Given the description of an element on the screen output the (x, y) to click on. 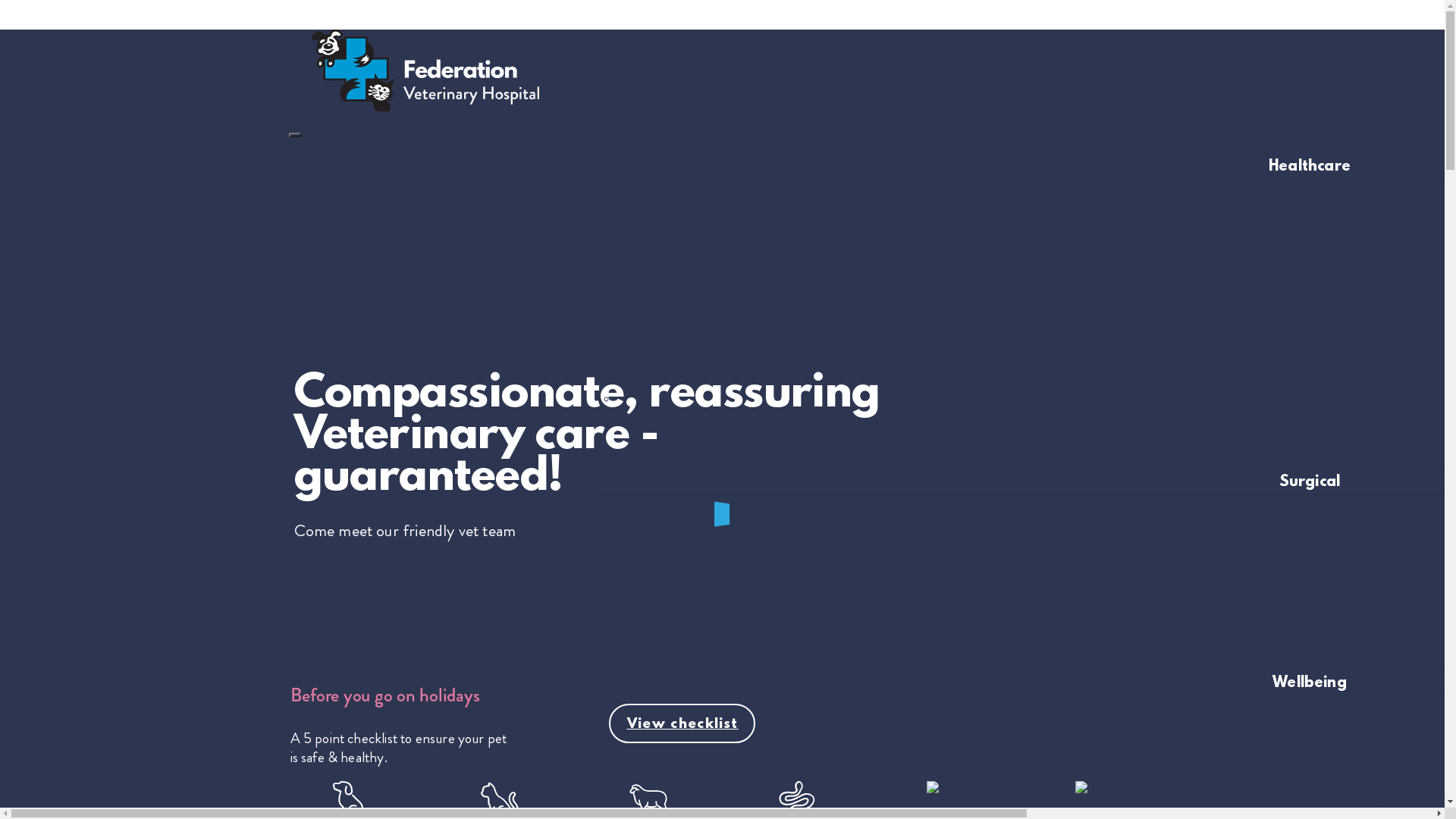
Pet Grooming Element type: text (1318, 740)
Mites Element type: text (1319, 368)
Home Element type: hover (413, 107)
Desexing Element type: text (1318, 540)
Microchipping Element type: text (1318, 397)
Ultrasonography Element type: text (1318, 455)
Orthopaedic Element type: text (1318, 597)
Pet Insurance and Vet Pay Element type: text (1319, 769)
Radiography Element type: text (1318, 426)
Dental Element type: text (1318, 511)
Ophthalmology Element type: text (1318, 569)
Heartworm Element type: text (1318, 311)
Skip to main content Element type: text (722, 7)
Dog Vaccination Element type: text (1318, 224)
Behavioural Advice Element type: text (1318, 711)
Soft Tissue Element type: text (1318, 655)
Pet Emergency Element type: text (1319, 626)
View checklist Element type: text (681, 723)
Clinical Pathology Element type: text (1318, 196)
Flea & Tick Control Element type: text (1318, 253)
Health Checks Element type: text (1318, 282)
Intestinal Worms Element type: text (1319, 340)
